Given the description of an element on the screen output the (x, y) to click on. 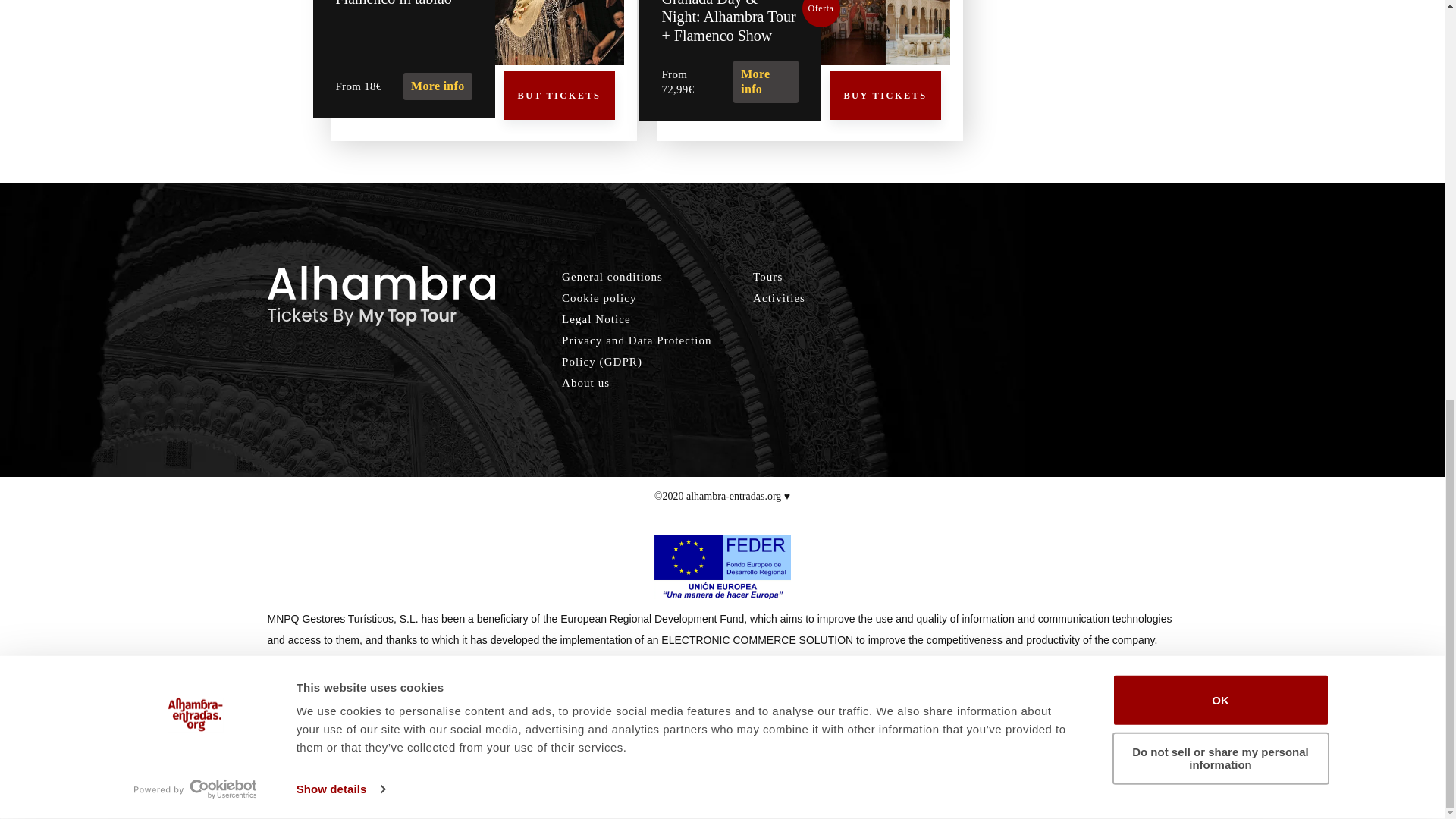
Show details (340, 8)
